Given the description of an element on the screen output the (x, y) to click on. 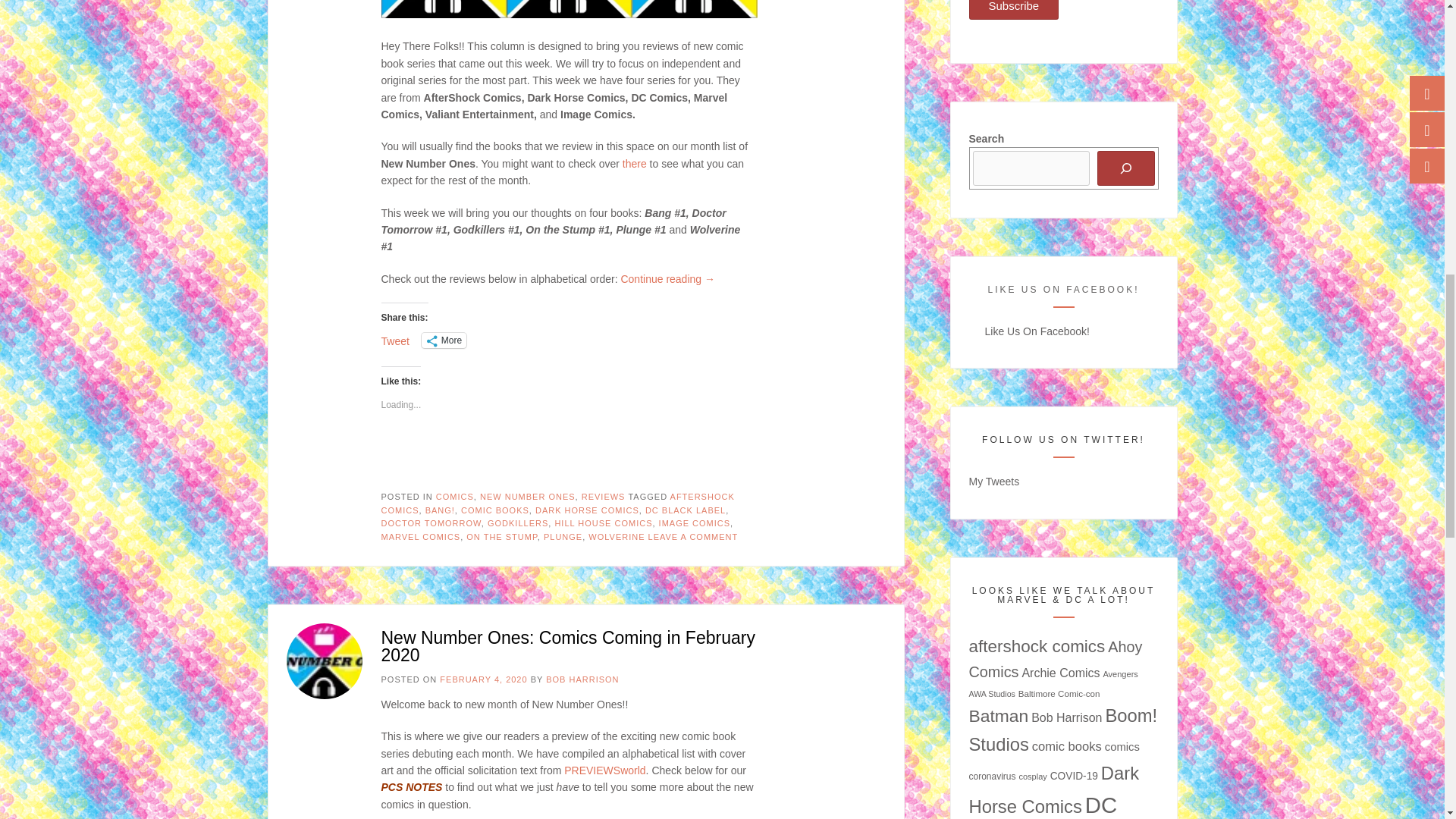
Subscribe (1014, 9)
Like or Reblog (568, 458)
